Given the description of an element on the screen output the (x, y) to click on. 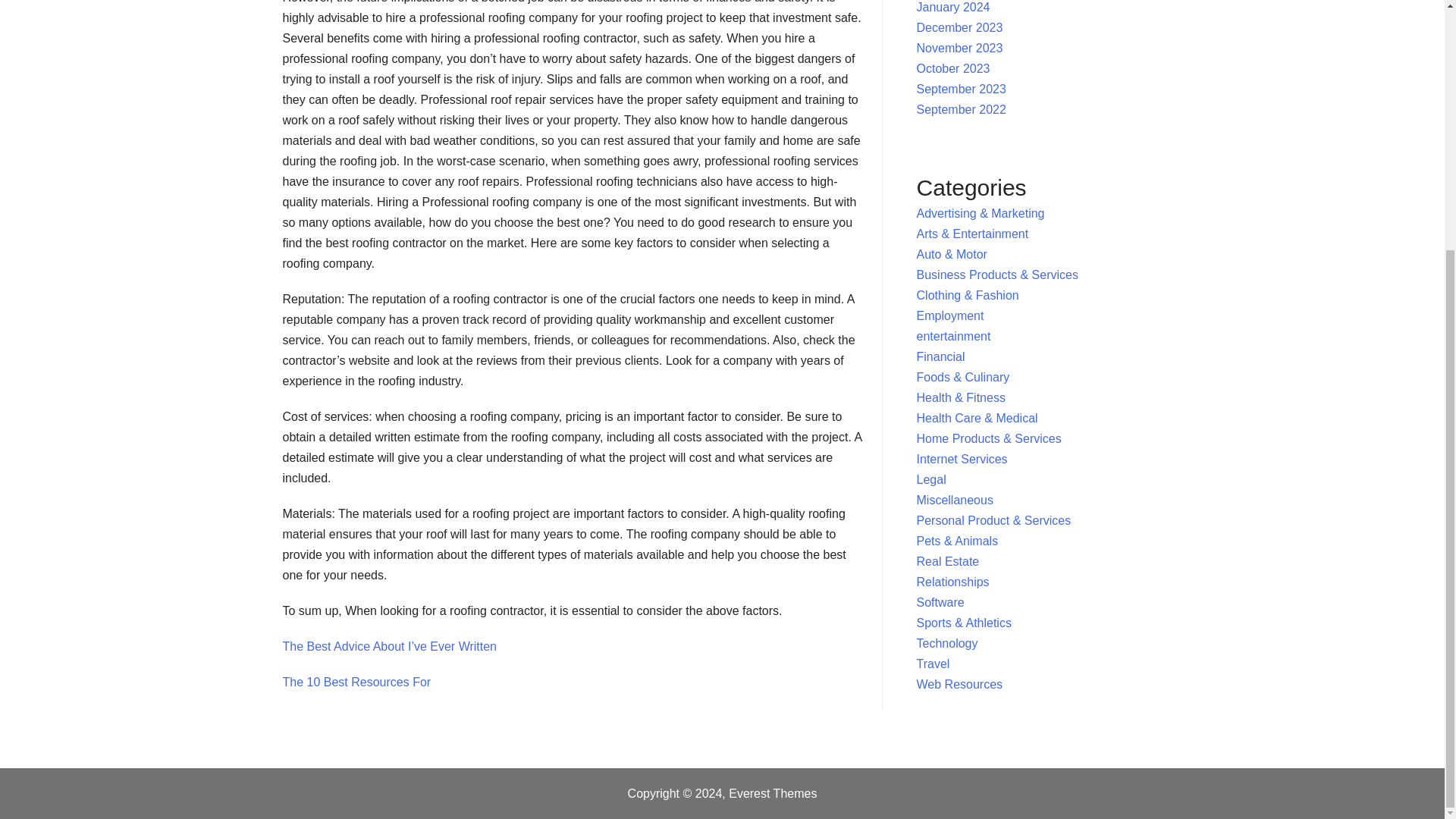
October 2023 (953, 68)
September 2022 (961, 109)
January 2024 (953, 6)
entertainment (954, 336)
September 2023 (961, 88)
November 2023 (960, 47)
Employment (950, 315)
The 10 Best Resources For (356, 681)
Financial (941, 356)
December 2023 (960, 27)
